Given the description of an element on the screen output the (x, y) to click on. 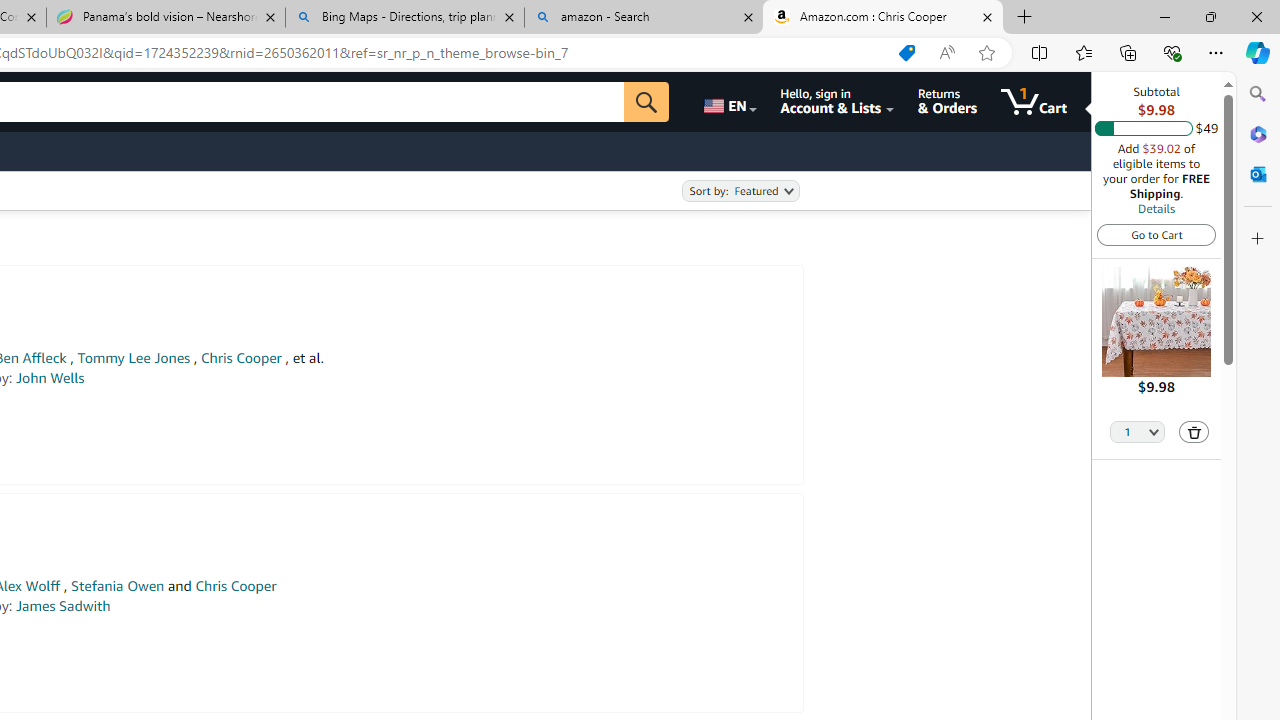
Choose a language for shopping. (728, 101)
Delete (1194, 431)
James Sadwith (63, 606)
Quantity Selector (1137, 430)
Returns & Orders (946, 101)
Delete (1193, 431)
